Given the description of an element on the screen output the (x, y) to click on. 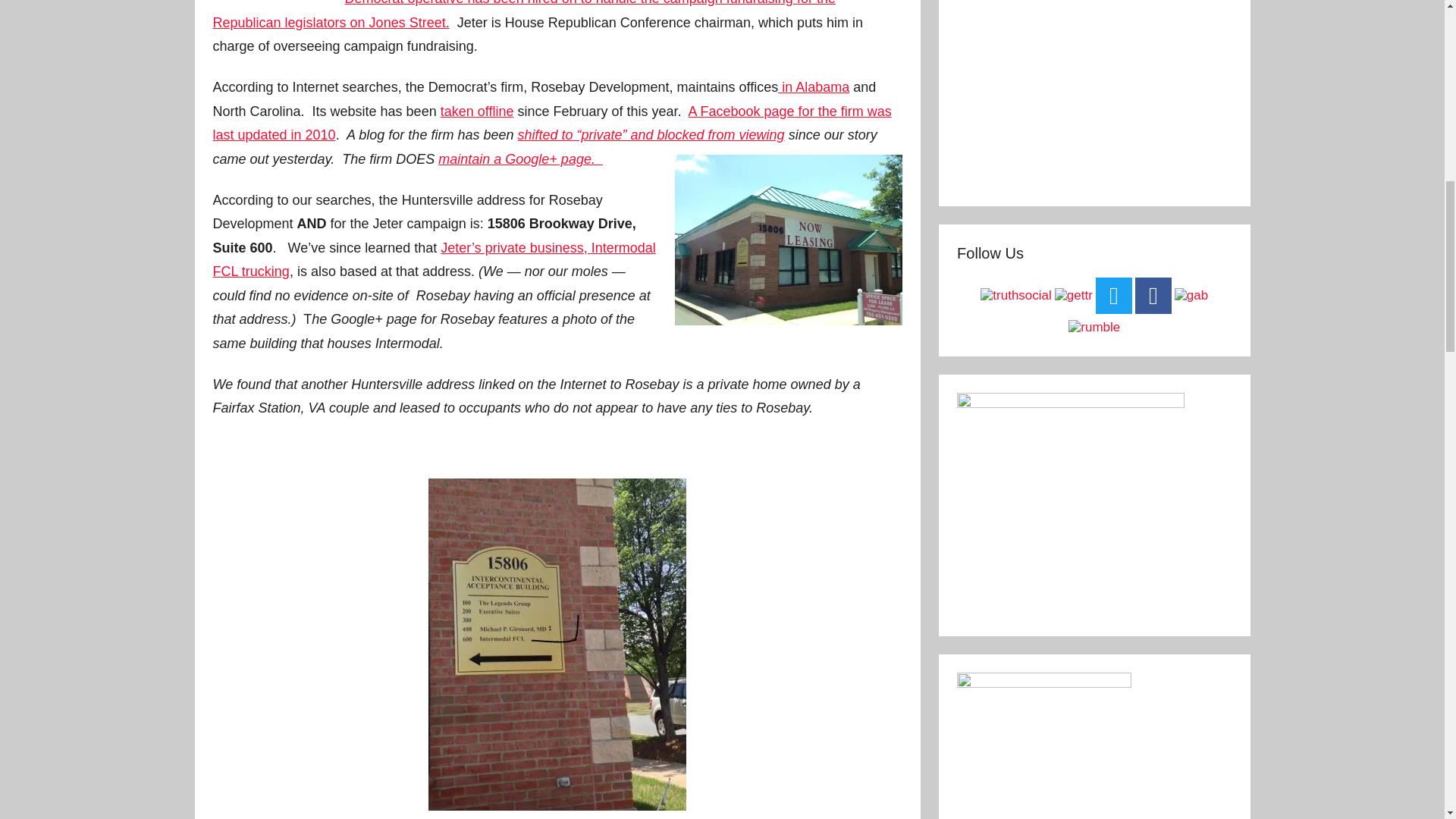
A Facebook page for the firm was last updated in 2010 (551, 123)
twitter (1114, 295)
gab (1191, 295)
truthsocial (1015, 295)
fb (1153, 295)
gettr (1073, 295)
rumble (1094, 327)
gettr (1073, 295)
rumble (1093, 327)
